Given the description of an element on the screen output the (x, y) to click on. 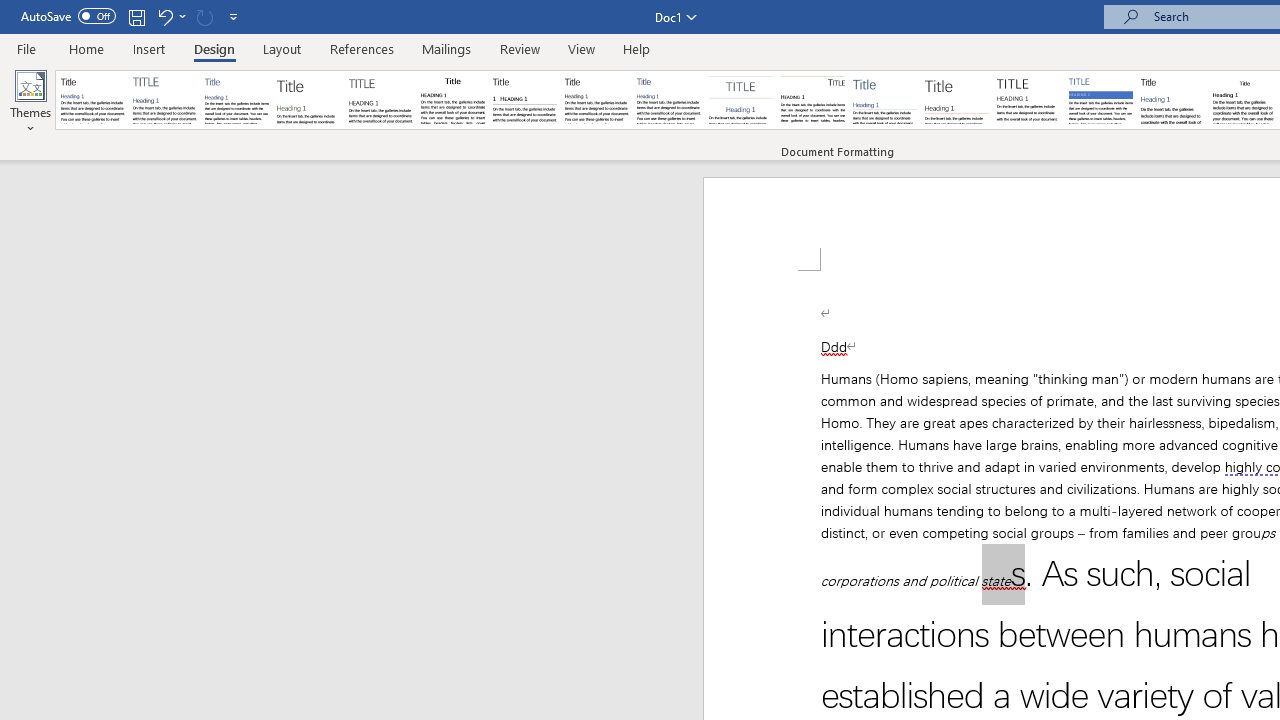
Centered (740, 100)
Shaded (1100, 100)
Basic (Stylish) (308, 100)
Undo Apply Quick Style Set (164, 15)
